Given the description of an element on the screen output the (x, y) to click on. 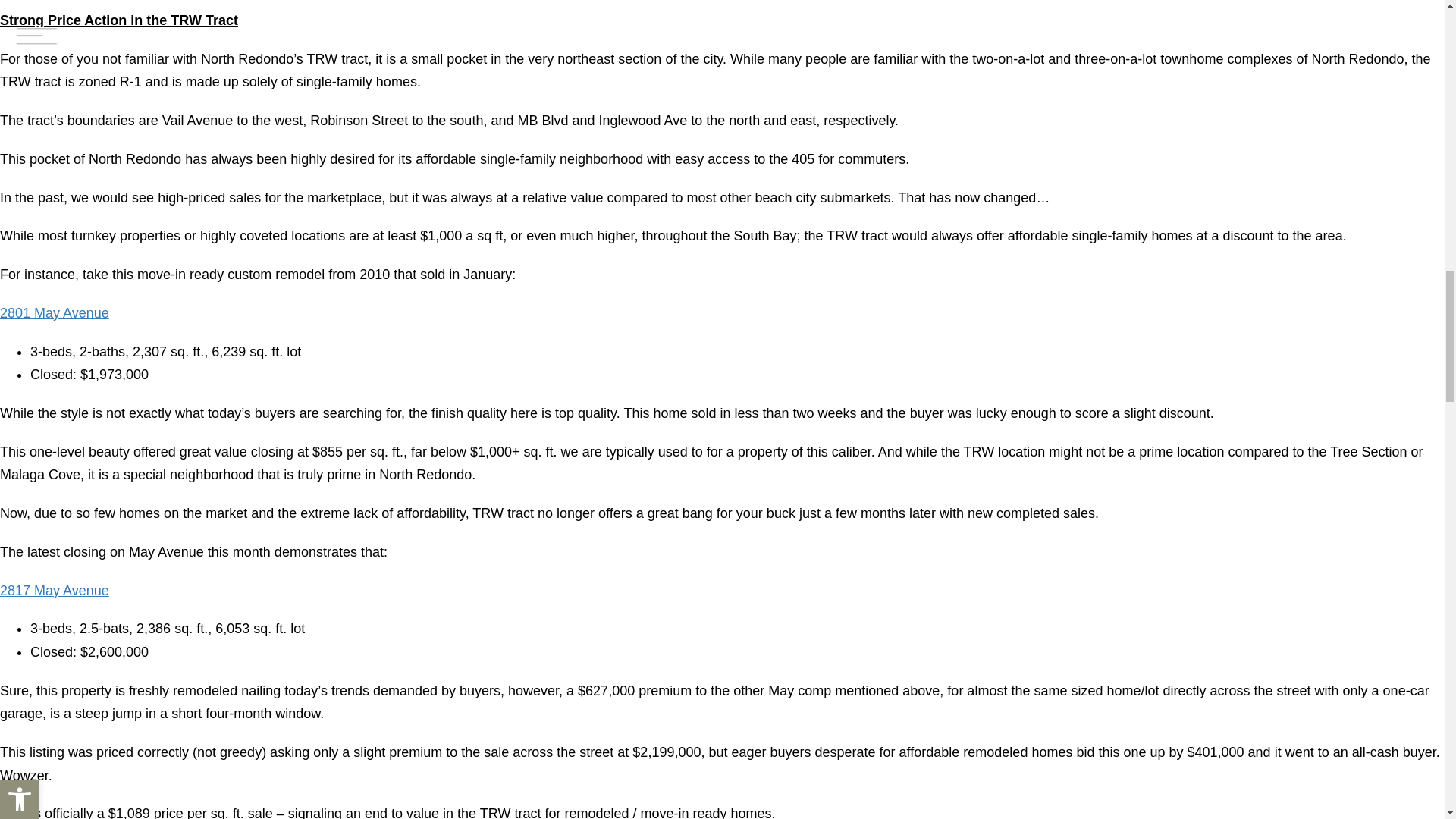
2801 May Avenue (54, 313)
